Given the description of an element on the screen output the (x, y) to click on. 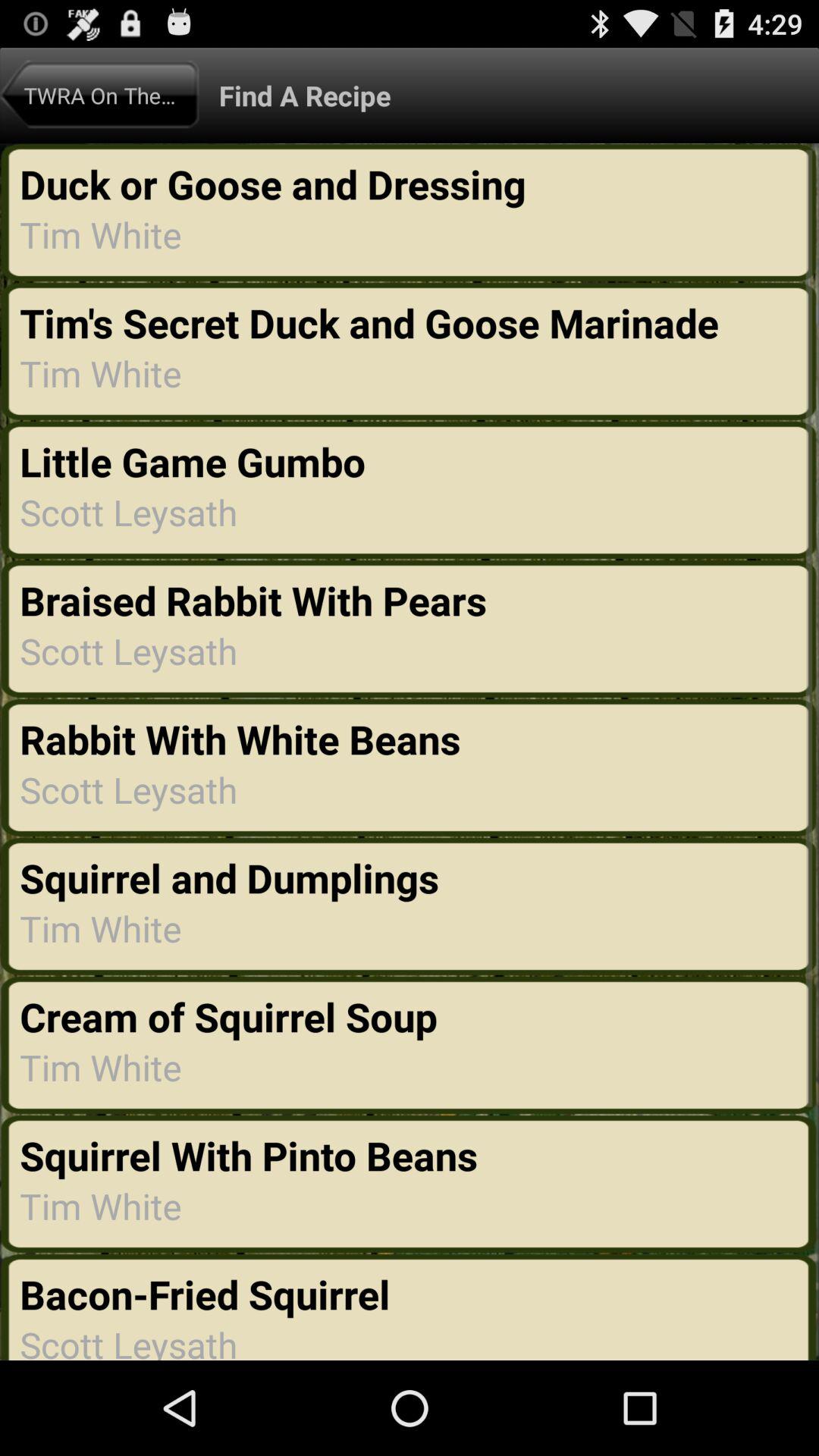
choose item below tim white (197, 461)
